Given the description of an element on the screen output the (x, y) to click on. 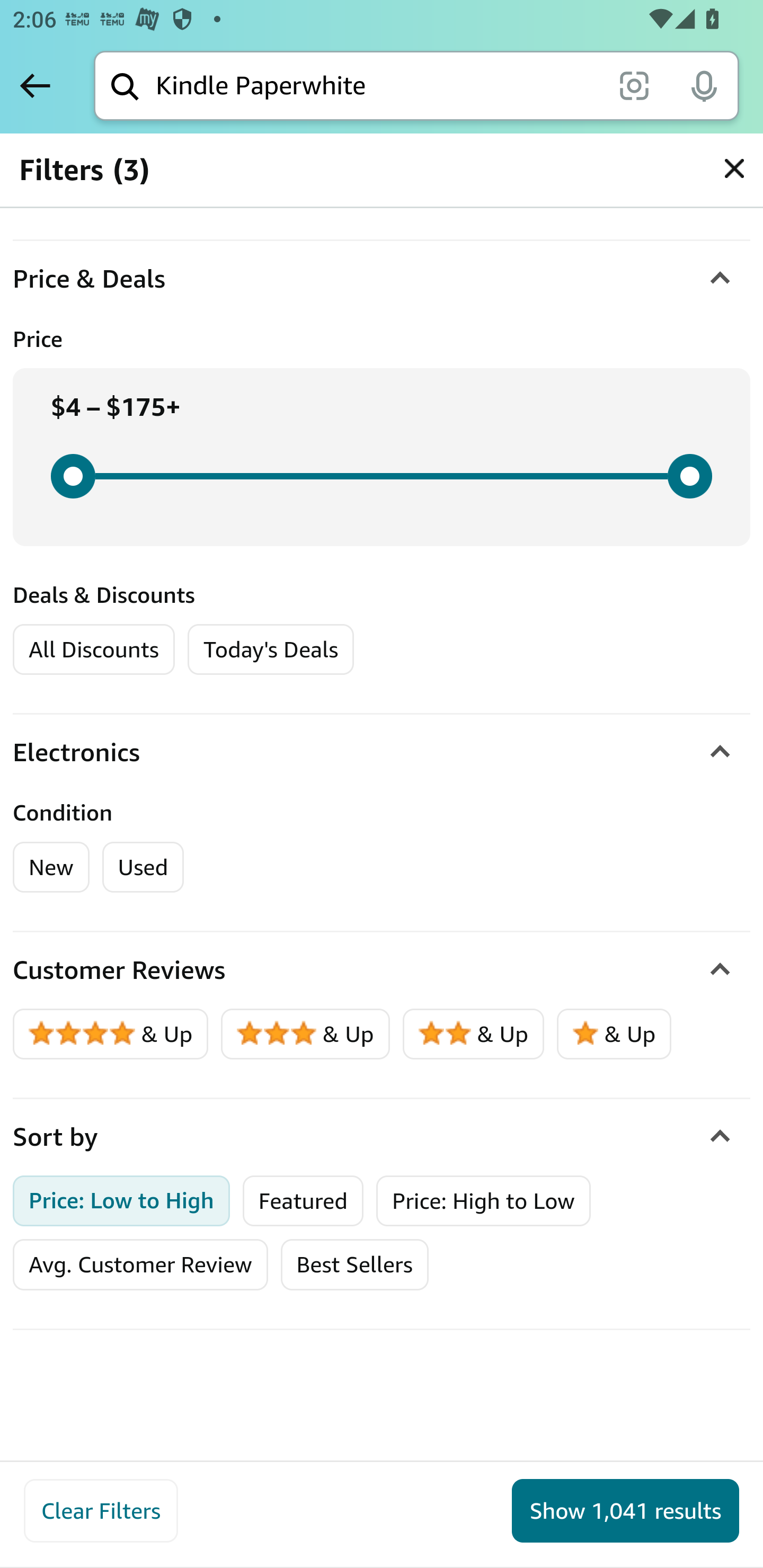
Back (35, 85)
scan it (633, 85)
Top Brands (85, 175)
Price & Deals (381, 278)
All Discounts (93, 648)
Today's Deals (270, 648)
Electronics (381, 752)
New (51, 866)
Used (142, 866)
Customer Reviews (381, 970)
4 Stars & Up (110, 1033)
3 Stars & Up (305, 1033)
2 Stars & Up (473, 1033)
1 Star & Up (614, 1033)
Sort by (381, 1136)
Featured (302, 1200)
Price: High to Low (483, 1200)
Avg. Customer Review (140, 1264)
Best Sellers (354, 1264)
Clear Filters (100, 1510)
Show 1,041 results (625, 1510)
